Given the description of an element on the screen output the (x, y) to click on. 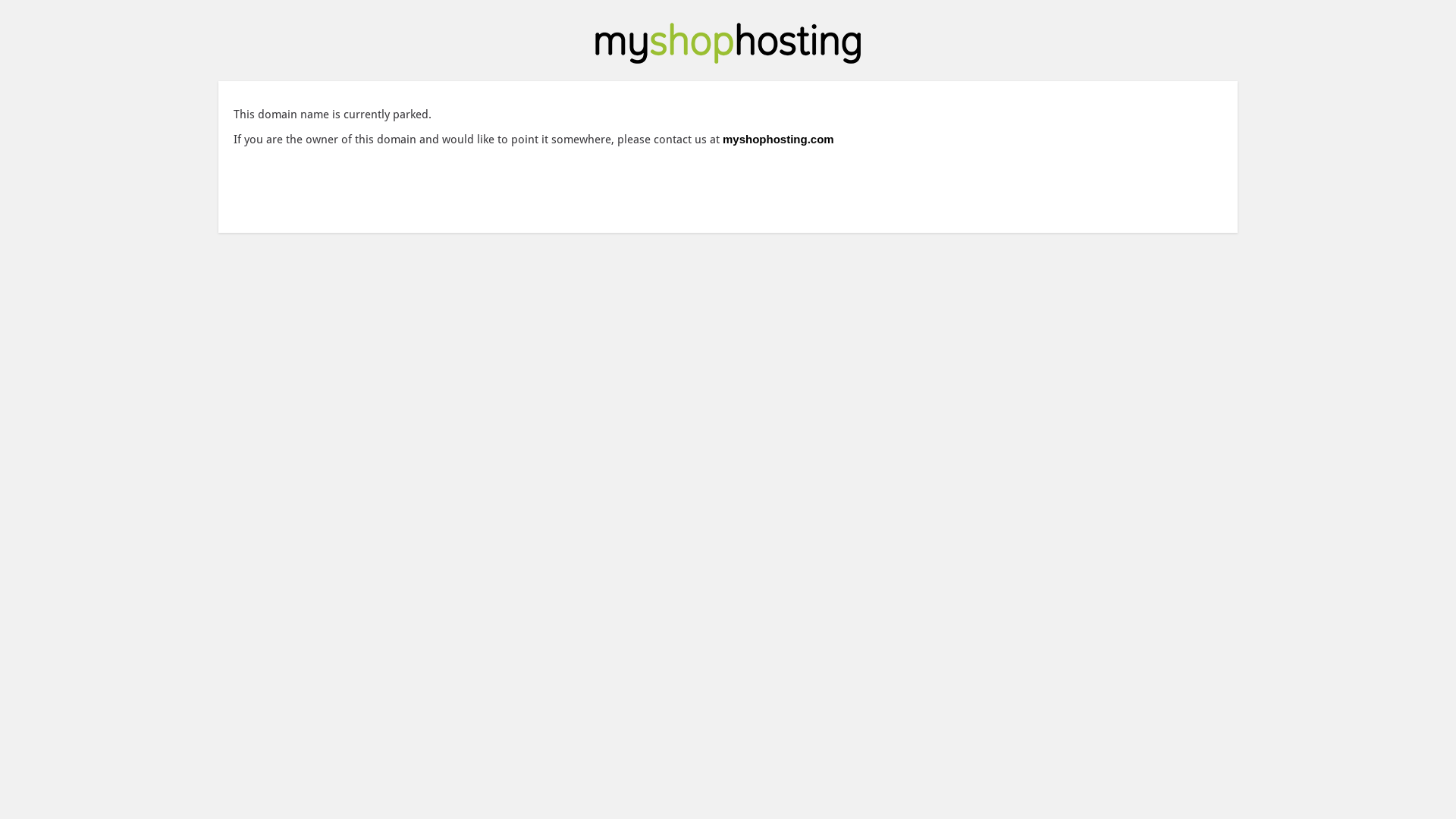
myshophosting.com Element type: text (778, 138)
